Given the description of an element on the screen output the (x, y) to click on. 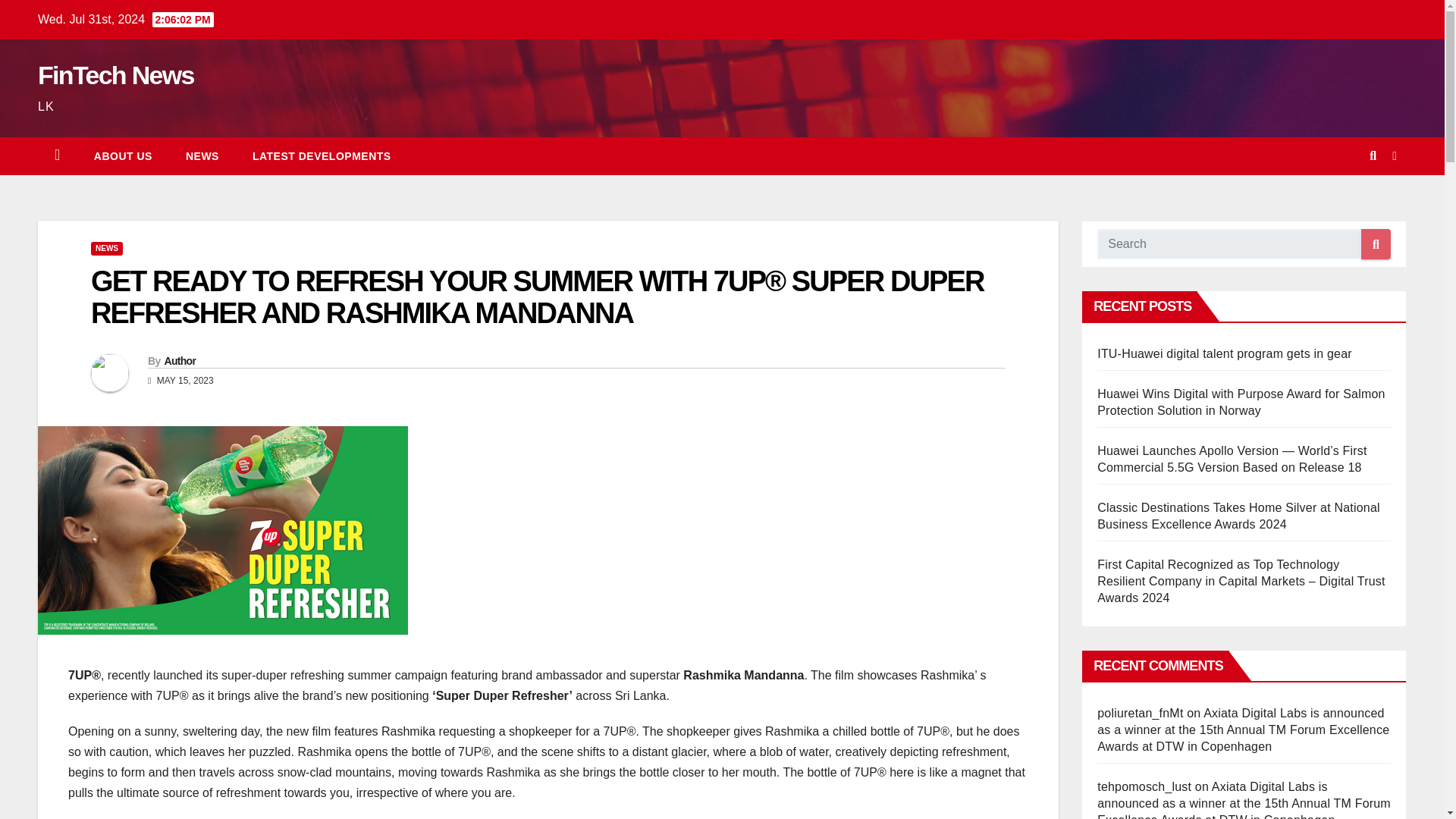
About Us (122, 156)
Author (179, 360)
News (201, 156)
Latest Developments (321, 156)
NEWS (201, 156)
NEWS (106, 248)
ABOUT US (122, 156)
LATEST DEVELOPMENTS (321, 156)
FinTech News (115, 74)
